Given the description of an element on the screen output the (x, y) to click on. 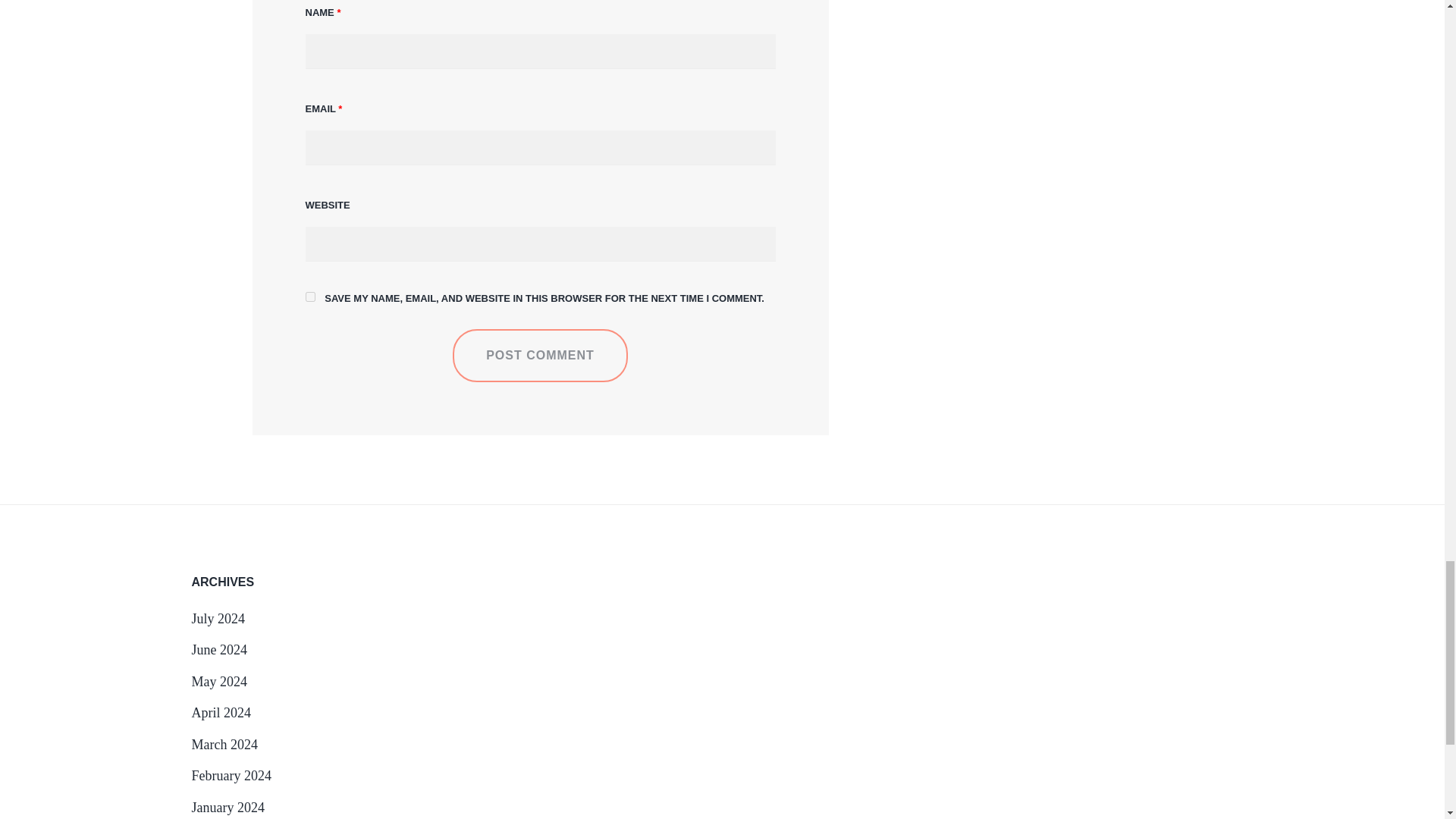
Post Comment (539, 355)
May 2024 (218, 681)
July 2024 (217, 618)
February 2024 (230, 775)
March 2024 (223, 744)
June 2024 (218, 649)
Post Comment (539, 355)
January 2024 (226, 807)
yes (309, 296)
April 2024 (220, 712)
